Given the description of an element on the screen output the (x, y) to click on. 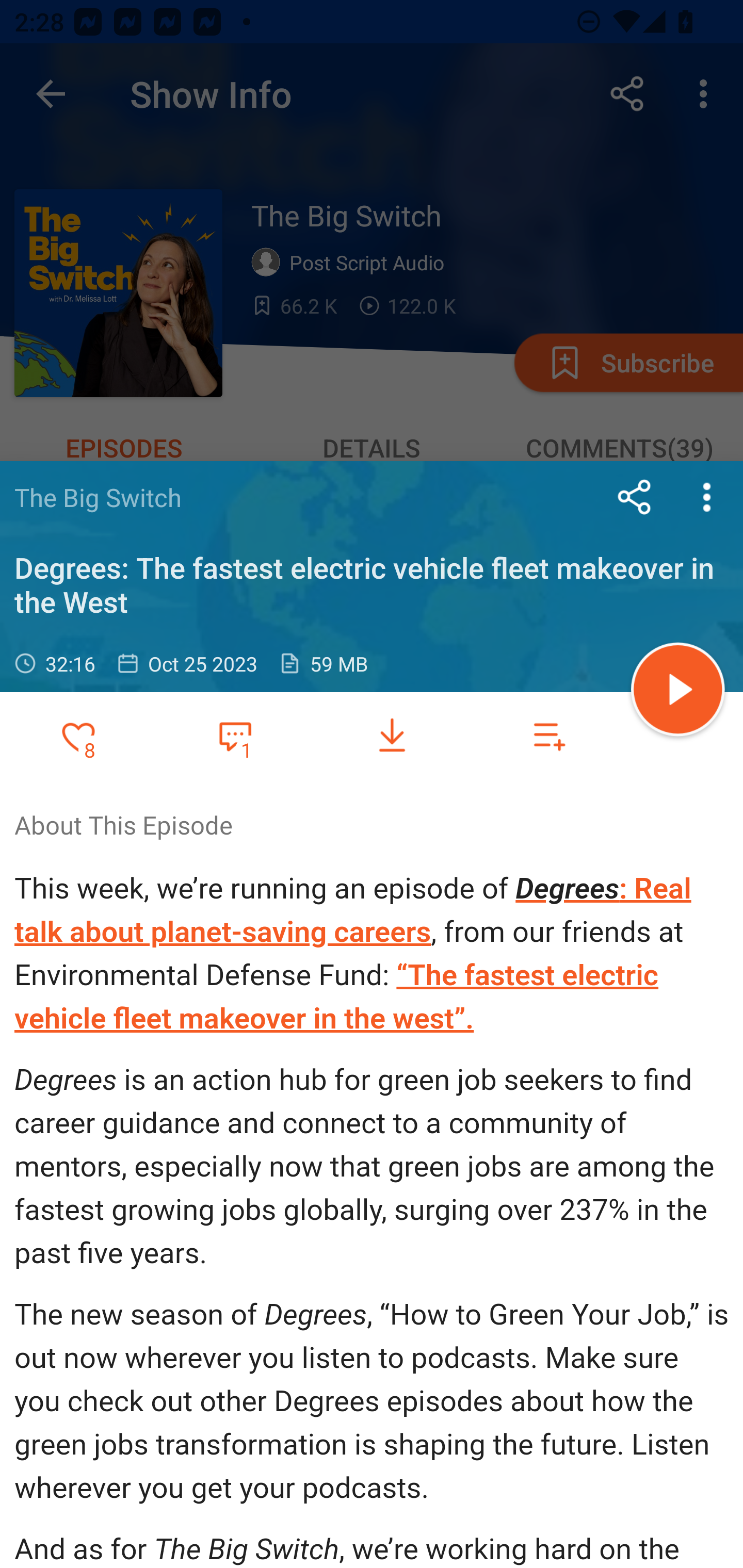
Share (634, 496)
more options (706, 496)
Play (677, 692)
1 Favorite (234, 735)
Add to Favorites (78, 735)
Download (391, 735)
Add to playlist (548, 735)
